Given the description of an element on the screen output the (x, y) to click on. 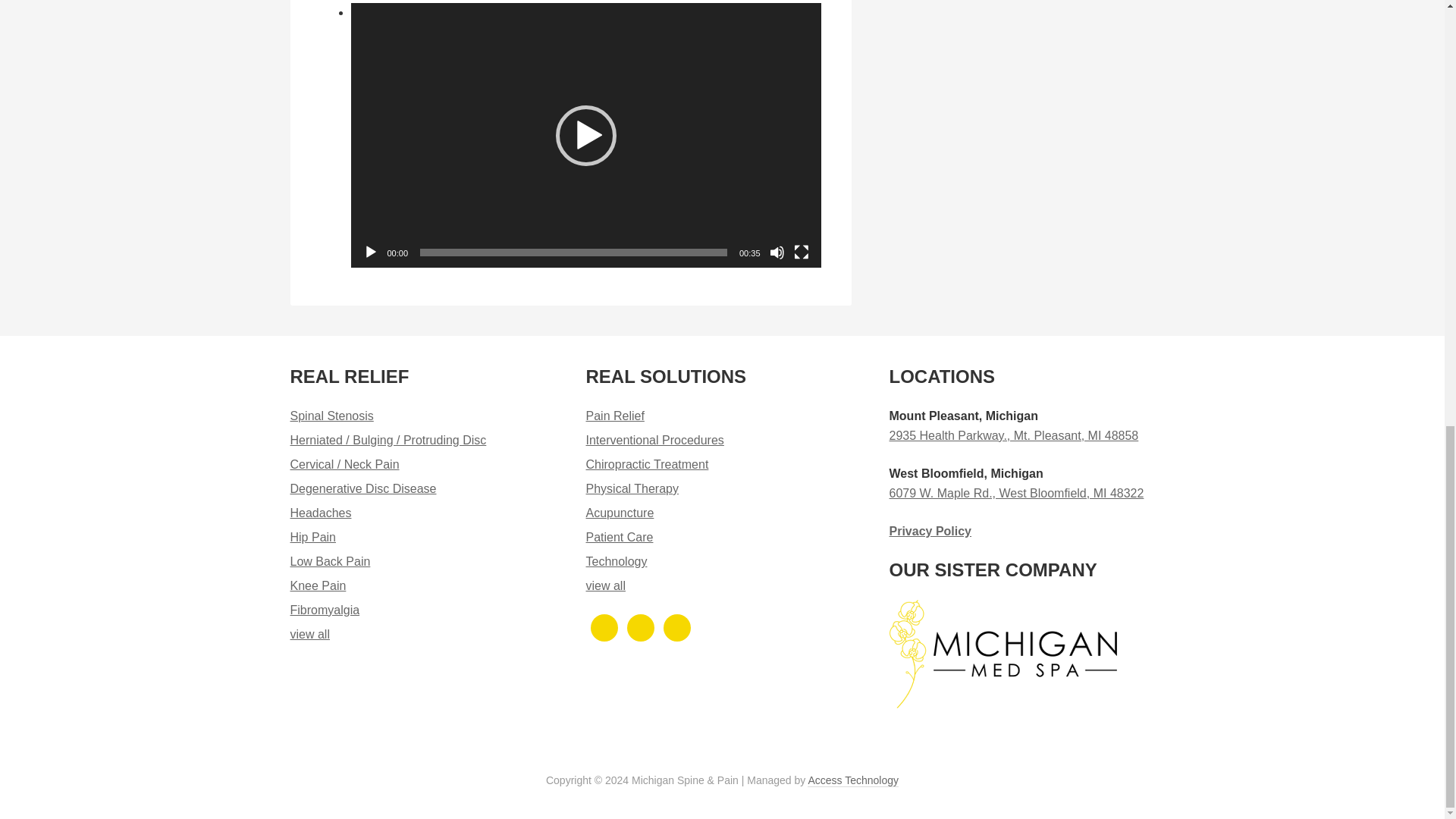
Knee Pain (317, 585)
Headaches (319, 512)
Low Back Pain (329, 561)
Fullscreen (800, 252)
Hip Pain (311, 536)
Fibromyalgia (324, 609)
Real Pain, Real Solutions (309, 634)
Play (369, 252)
Spinal Stenosis (330, 415)
Mute (776, 252)
